Given the description of an element on the screen output the (x, y) to click on. 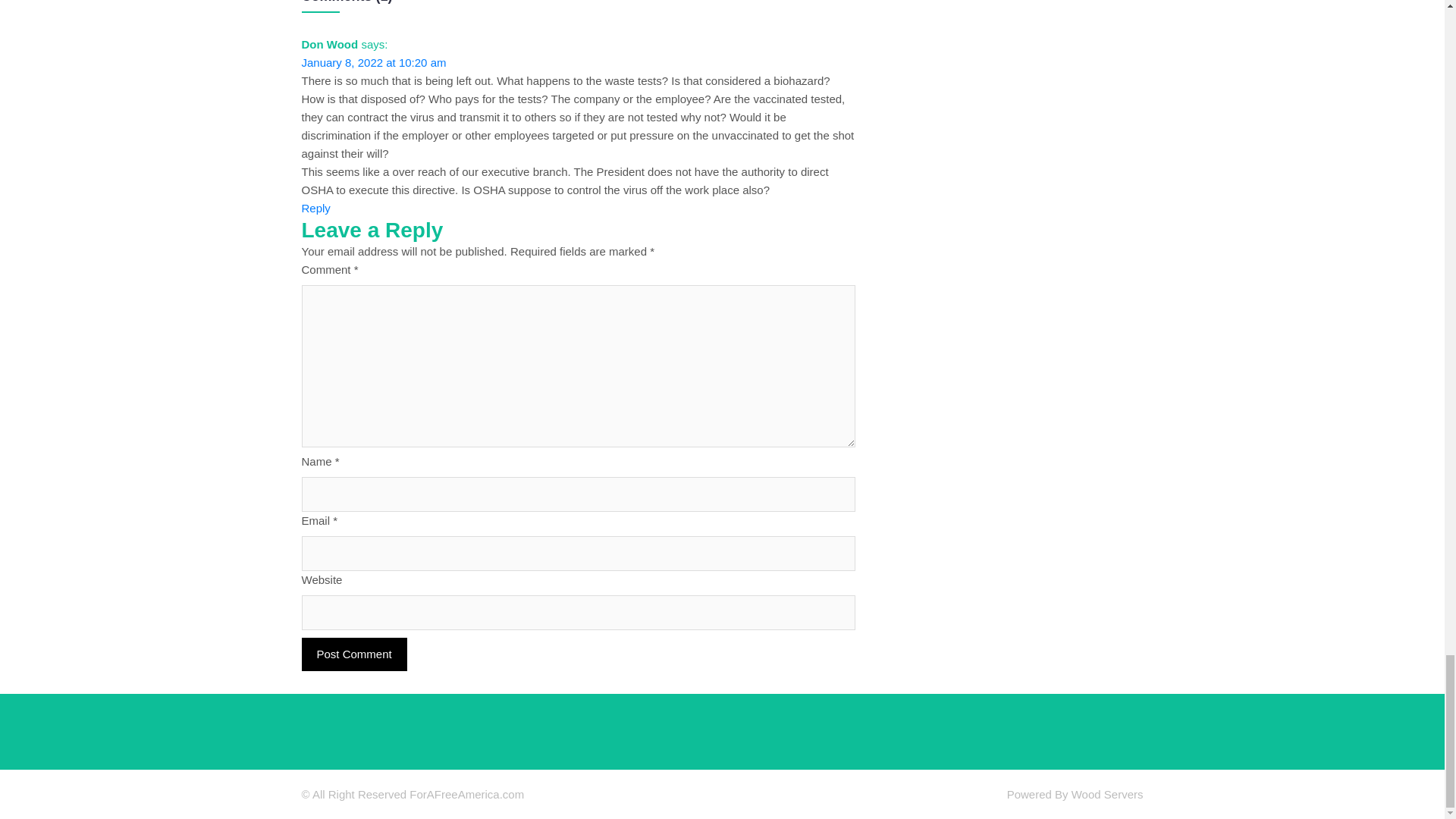
Post Comment (354, 654)
